Given the description of an element on the screen output the (x, y) to click on. 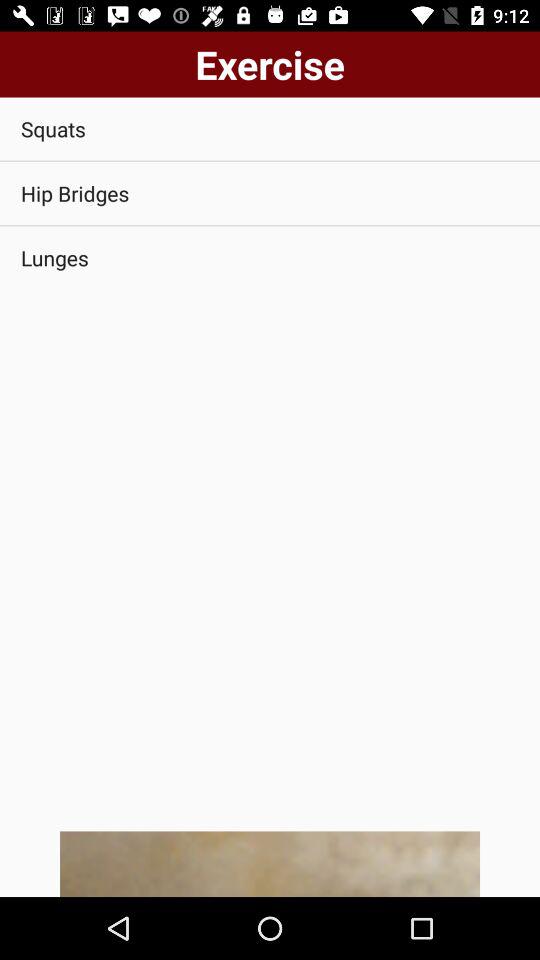
tap squats (270, 128)
